Given the description of an element on the screen output the (x, y) to click on. 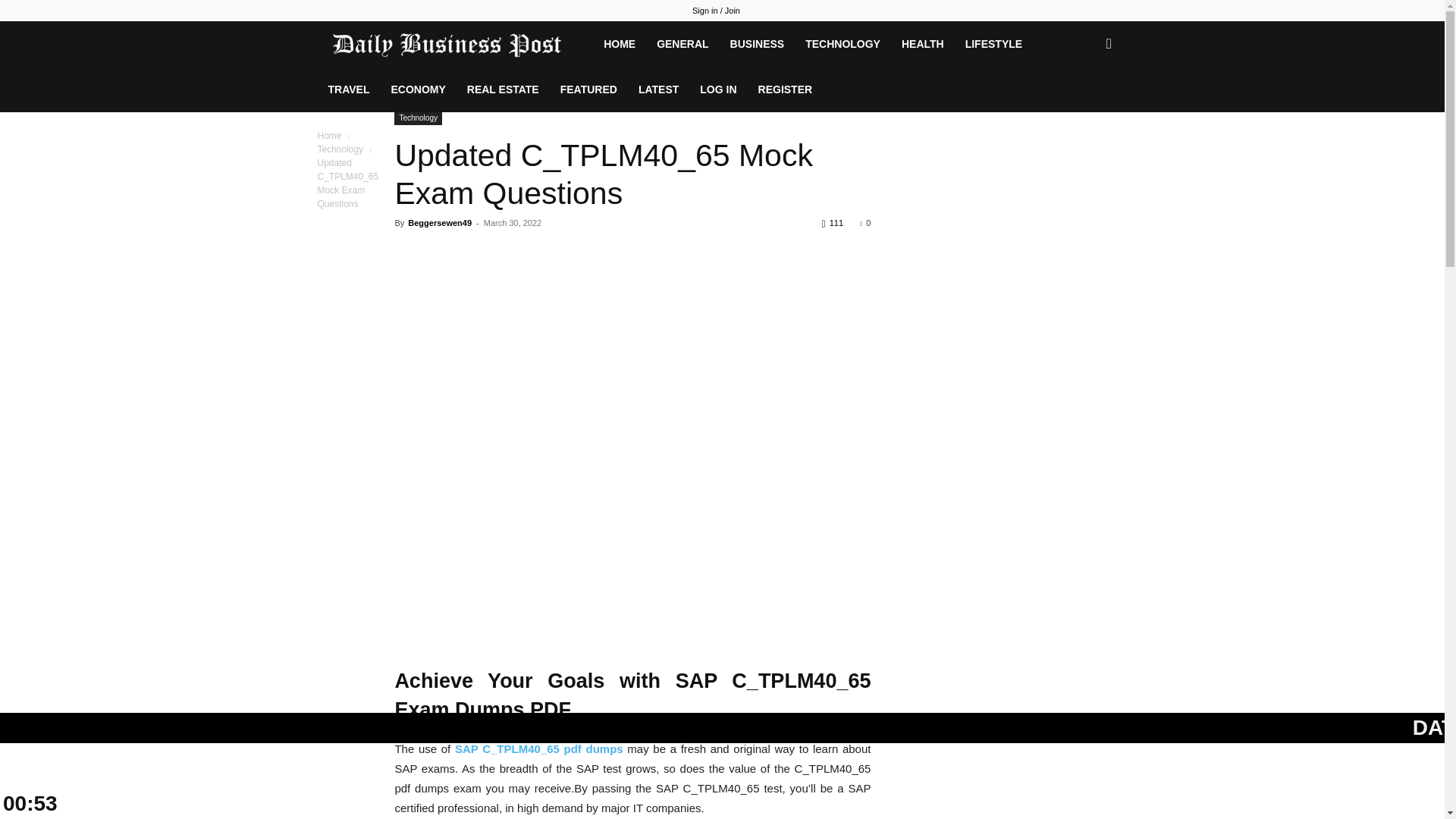
REGISTER (786, 89)
LOG IN (717, 89)
GENERAL (682, 43)
BUSINESS (756, 43)
HEALTH (923, 43)
Search (1085, 109)
TECHNOLOGY (842, 43)
View all posts in Technology (339, 149)
LATEST (657, 89)
REAL ESTATE (503, 89)
